Given the description of an element on the screen output the (x, y) to click on. 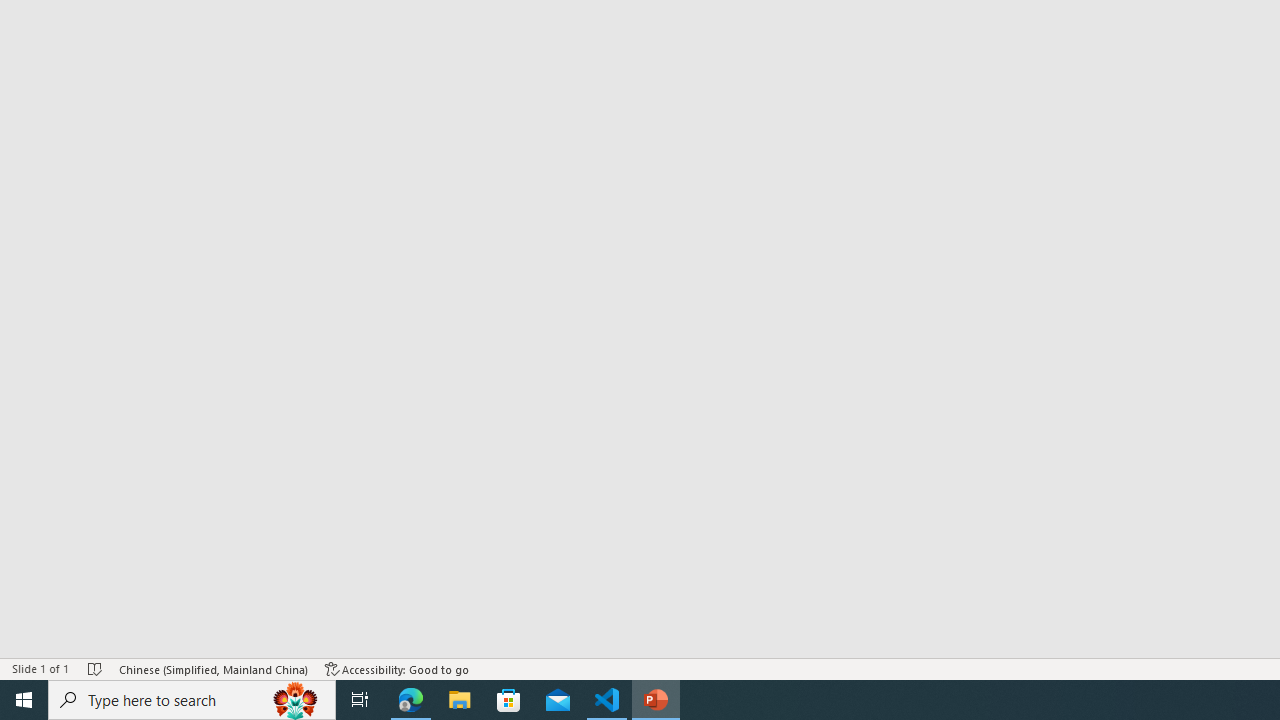
Spell Check No Errors (95, 668)
Accessibility Checker Accessibility: Good to go (397, 668)
